Given the description of an element on the screen output the (x, y) to click on. 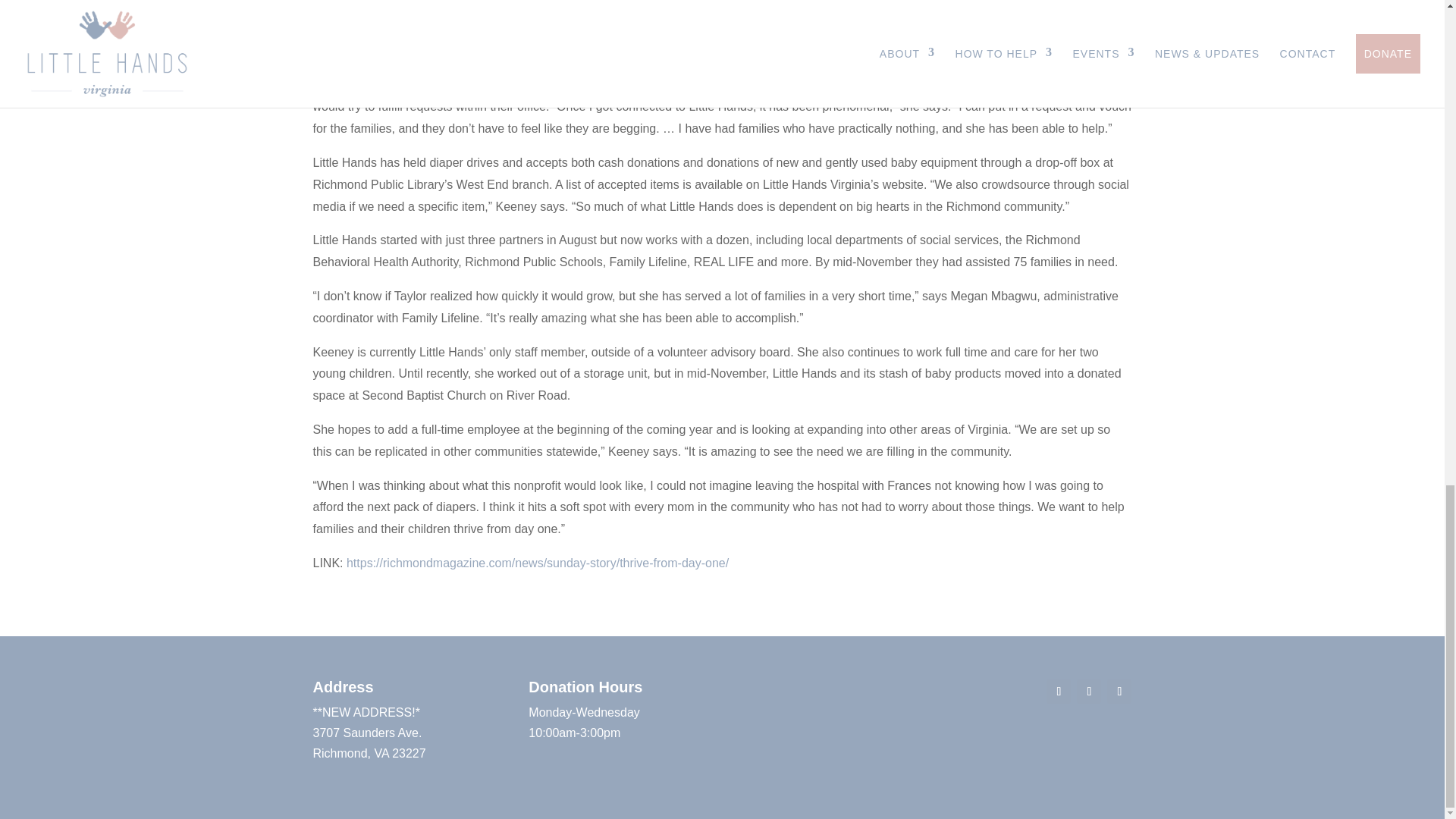
Follow on Facebook (1058, 691)
Follow on X (1088, 691)
Follow on Instagram (1118, 691)
